Given the description of an element on the screen output the (x, y) to click on. 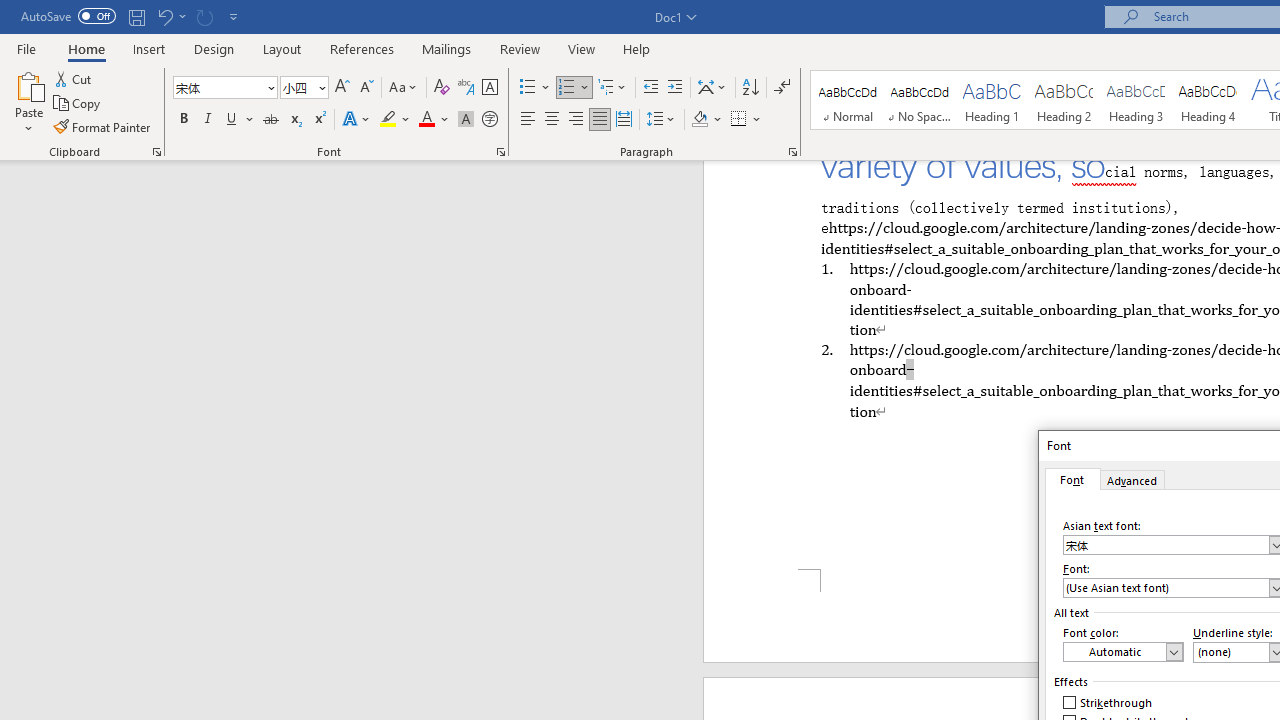
Heading 1 (991, 100)
Paste (28, 84)
Underline (232, 119)
Character Shading (465, 119)
Font Size (297, 87)
Grow Font (342, 87)
Paragraph... (792, 151)
Change Case (404, 87)
Font Color (Automatic) (1123, 651)
Undo Apply Quick Style (164, 15)
Bold (183, 119)
Shrink Font (365, 87)
Font (218, 87)
